Given the description of an element on the screen output the (x, y) to click on. 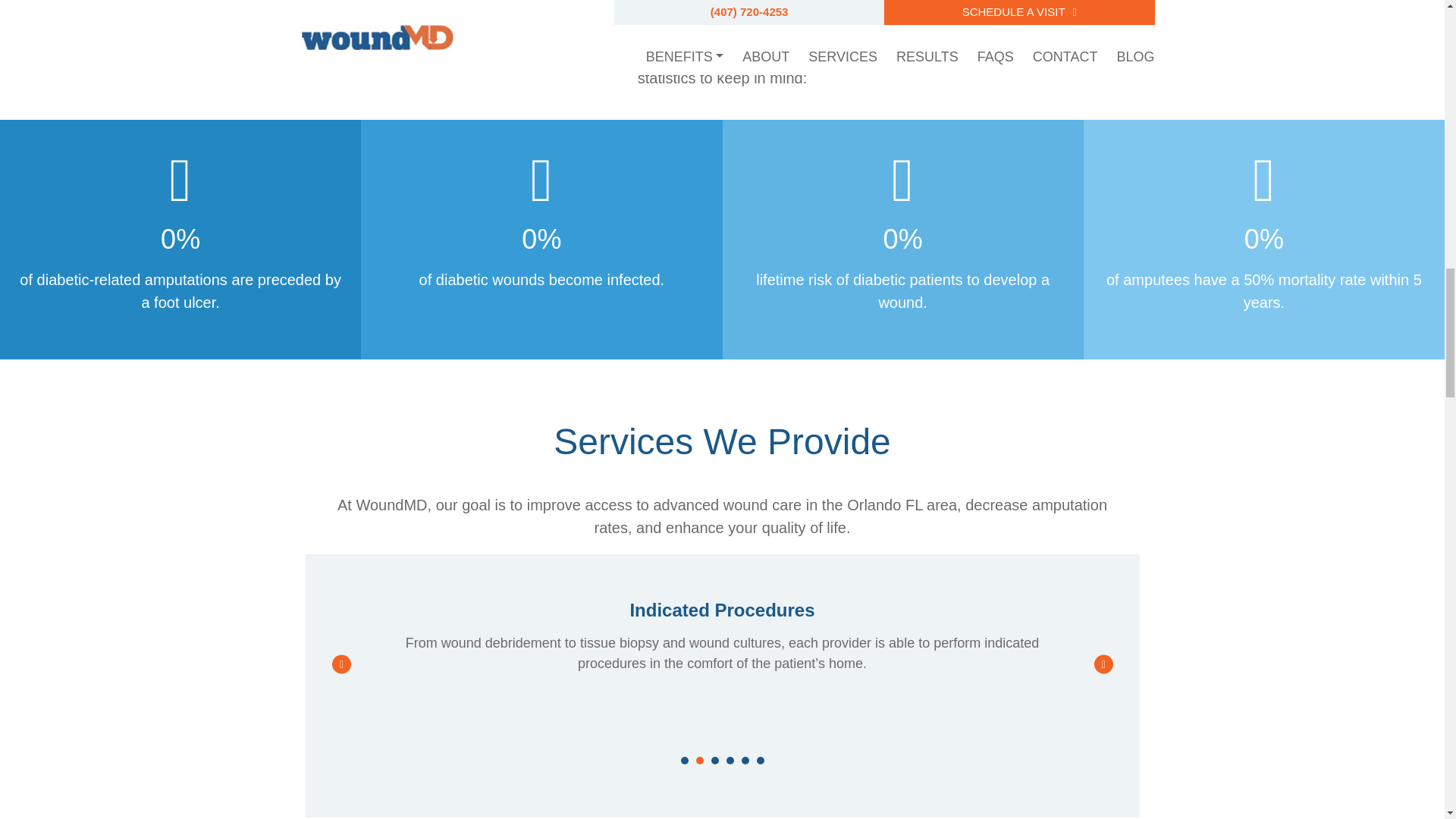
3 (715, 760)
5 (745, 760)
2 (699, 760)
1 (684, 760)
6 (760, 760)
4 (729, 760)
